Given the description of an element on the screen output the (x, y) to click on. 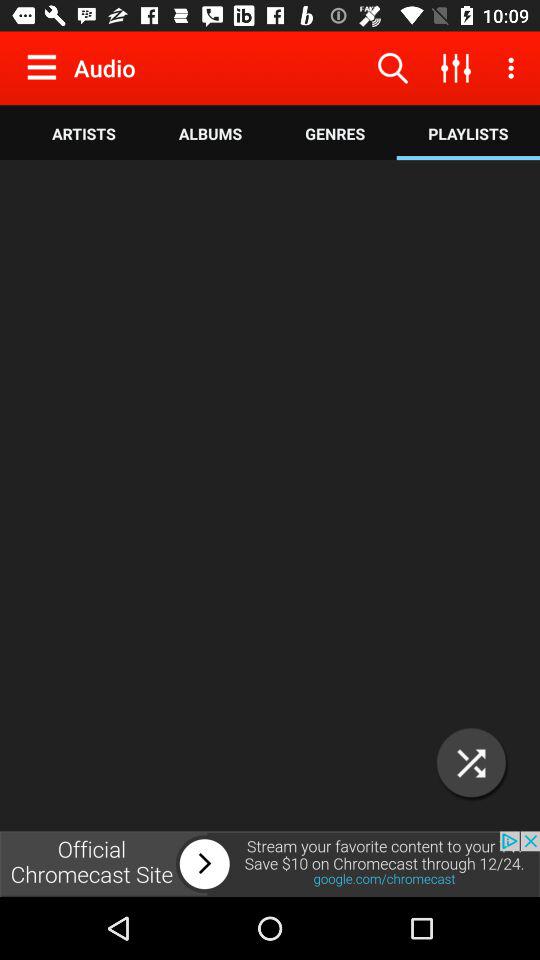
forward (270, 864)
